Given the description of an element on the screen output the (x, y) to click on. 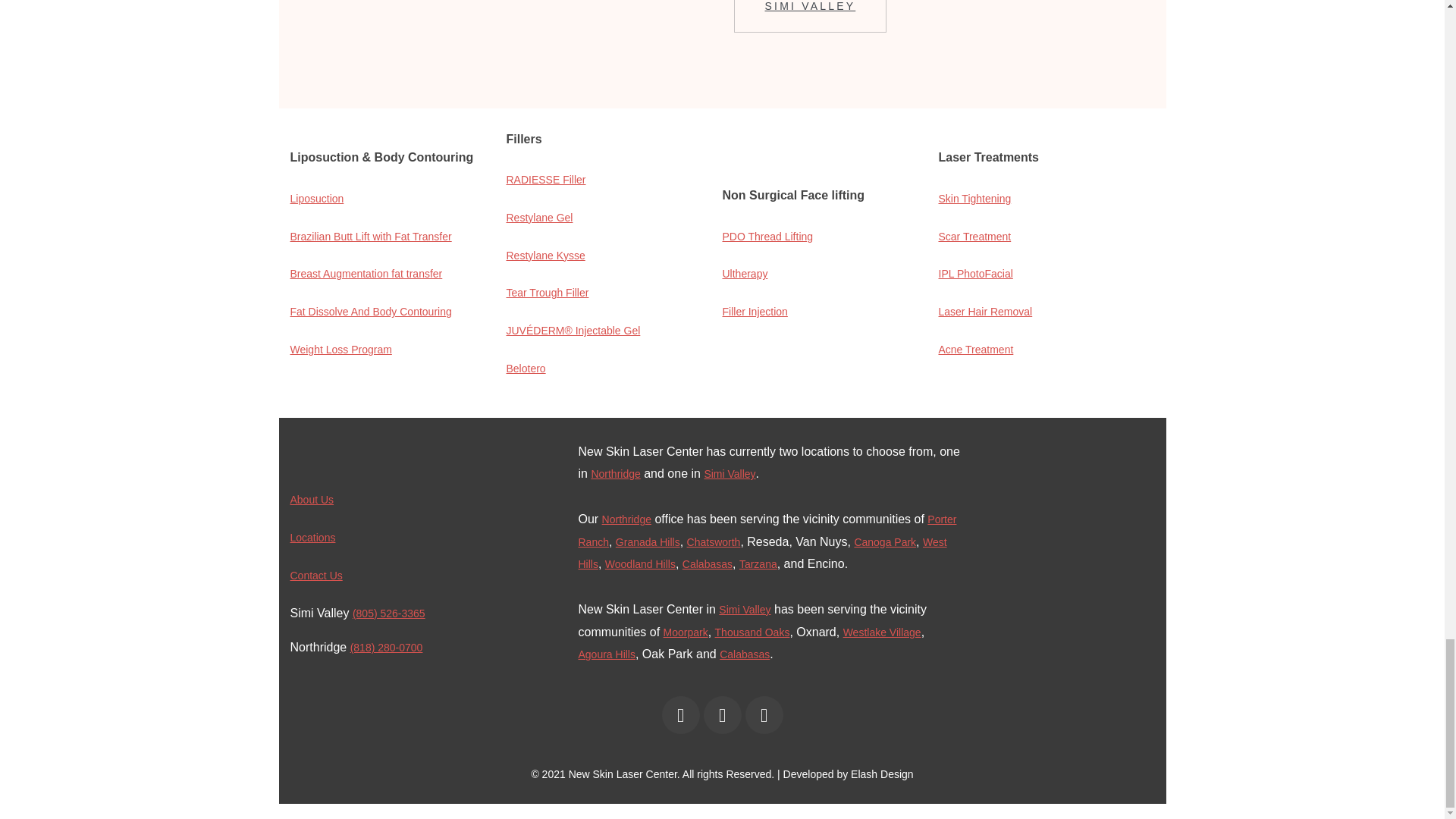
botox simi valley (744, 609)
botox Westlake Village (882, 632)
botox Tarzana (758, 563)
botox Porter Ranch (767, 530)
botox Calabasas (707, 563)
botox Agoura Hills (606, 654)
botox Canoga Park (884, 541)
botox simi valley (729, 473)
botox Moorpark (685, 632)
botox West Hills (762, 553)
botox Granada Hills (647, 541)
botox Woodland Hills (640, 563)
botox Northridge (626, 519)
botox Chatsworth (714, 541)
botox Thousand Oaks (752, 632)
